Given the description of an element on the screen output the (x, y) to click on. 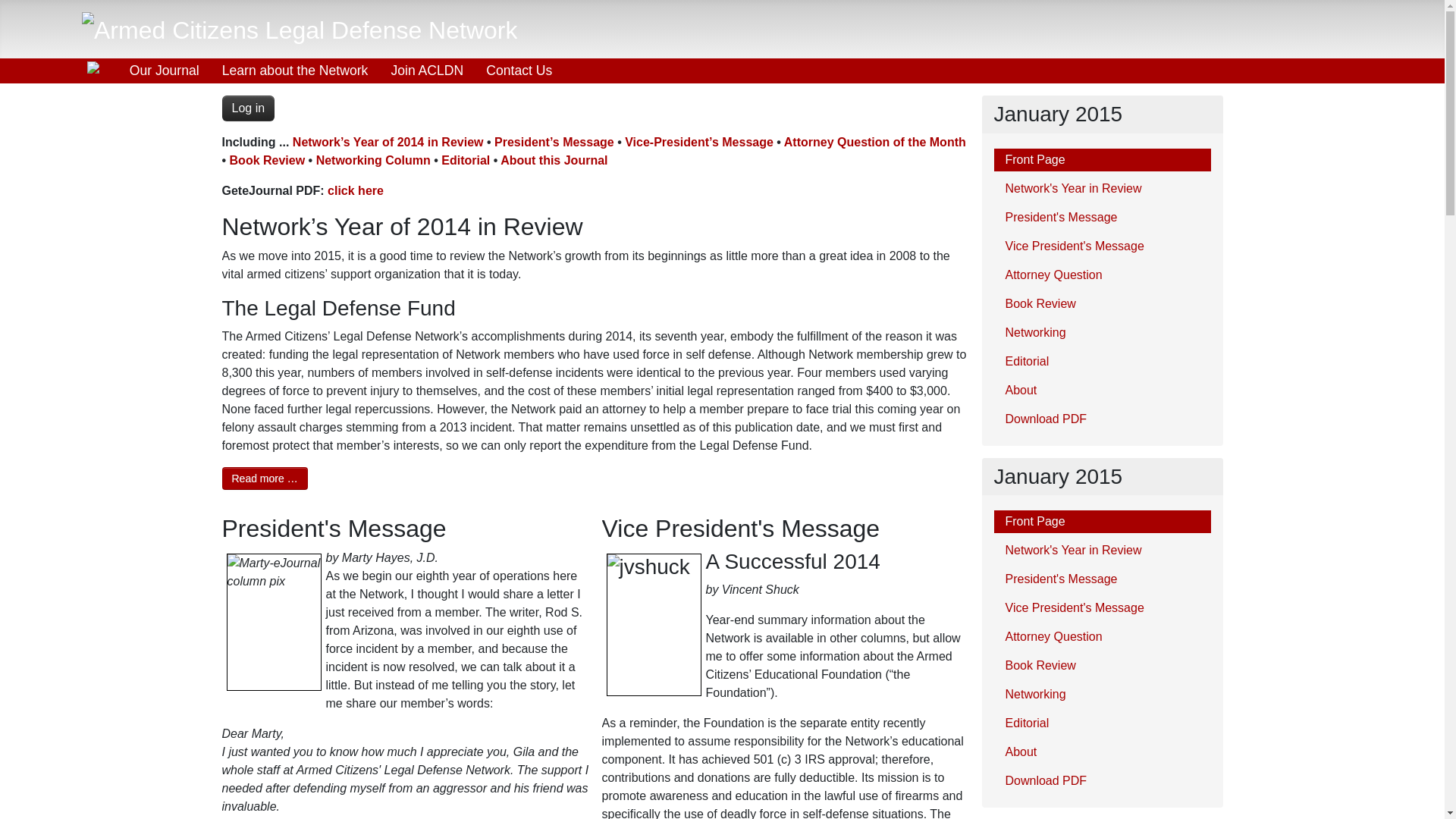
Networking (1100, 332)
Book Review (267, 160)
Join ACLDN (426, 70)
Learn about the Network (295, 70)
About this Journal (553, 160)
Our Journal (164, 70)
Network's Year in Review (1100, 188)
Vice President's Message (1100, 246)
President's Message (1100, 217)
Editorial (1100, 361)
